Given the description of an element on the screen output the (x, y) to click on. 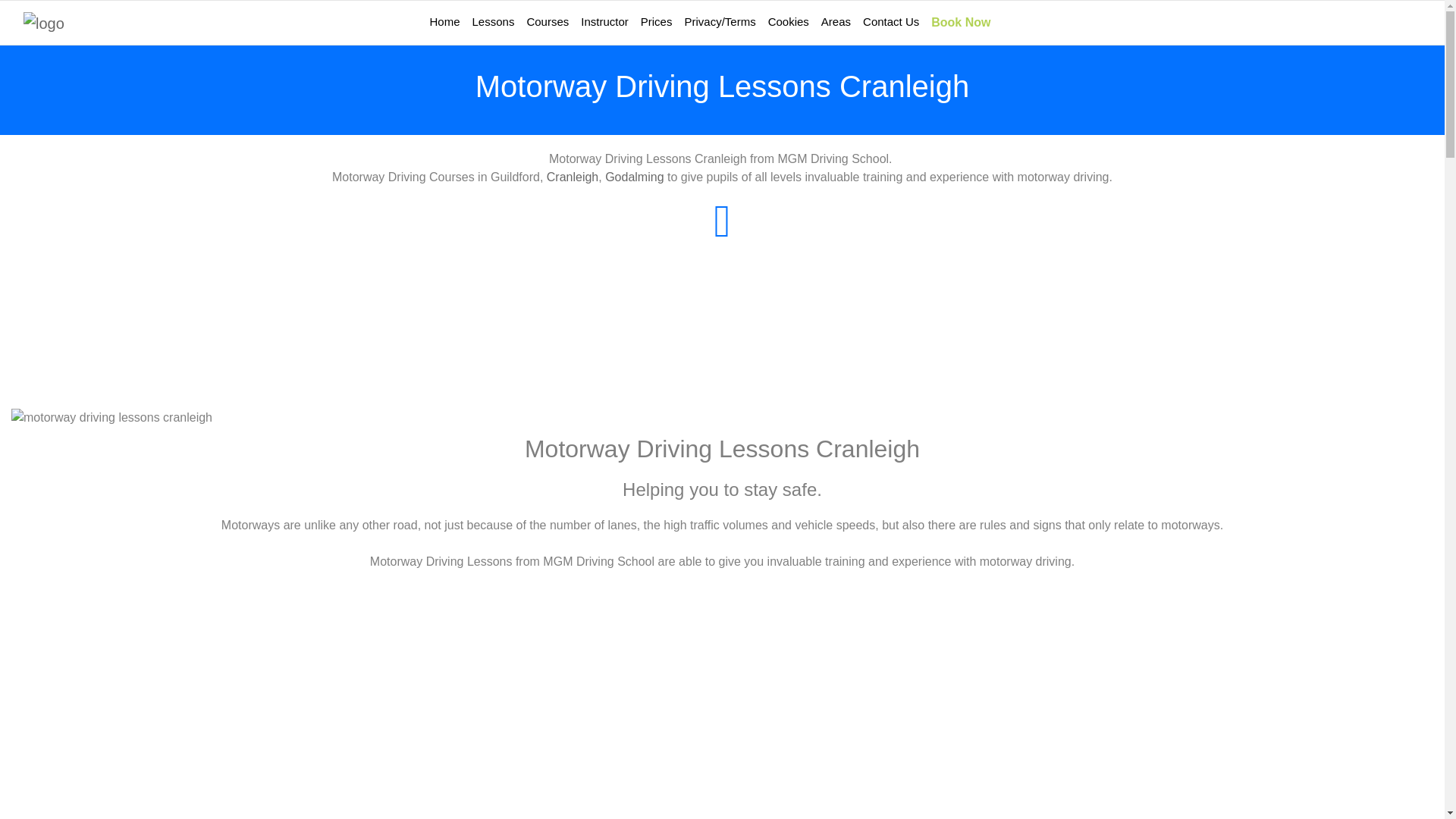
Home (444, 21)
Areas (836, 21)
Cranleigh (572, 176)
Cookies (788, 21)
Godalming (634, 176)
Contact Us (890, 21)
Courses (547, 21)
Prices (656, 21)
Instructor (604, 21)
Lessons (493, 21)
